Given the description of an element on the screen output the (x, y) to click on. 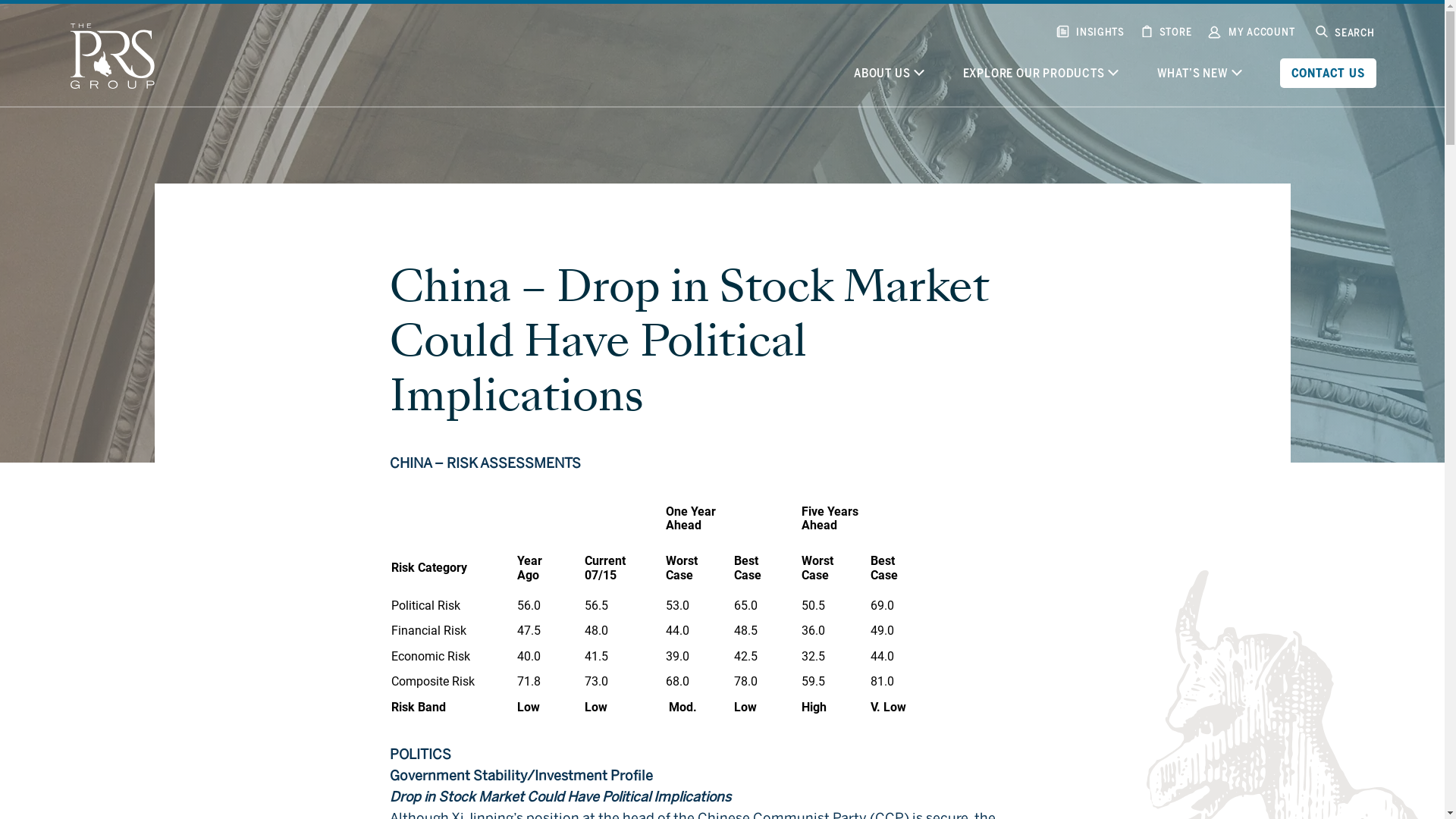
INSIGHTS (1099, 31)
MY ACCOUNT (1261, 31)
EXPLORE OUR PRODUCTS (1040, 73)
ABOUT US (888, 73)
SEARCH (1354, 32)
STORE (1175, 31)
